Given the description of an element on the screen output the (x, y) to click on. 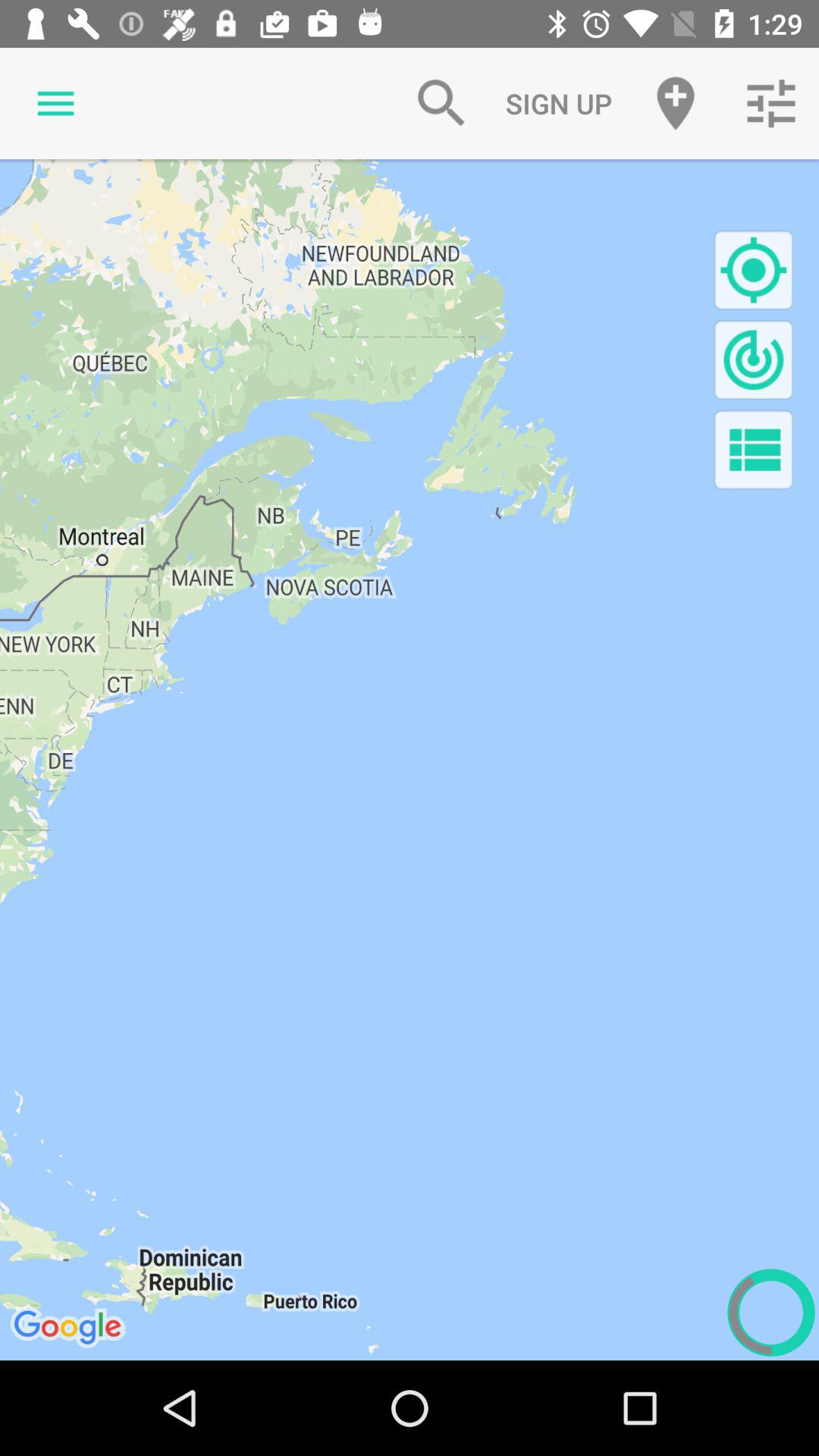
locate (753, 269)
